Given the description of an element on the screen output the (x, y) to click on. 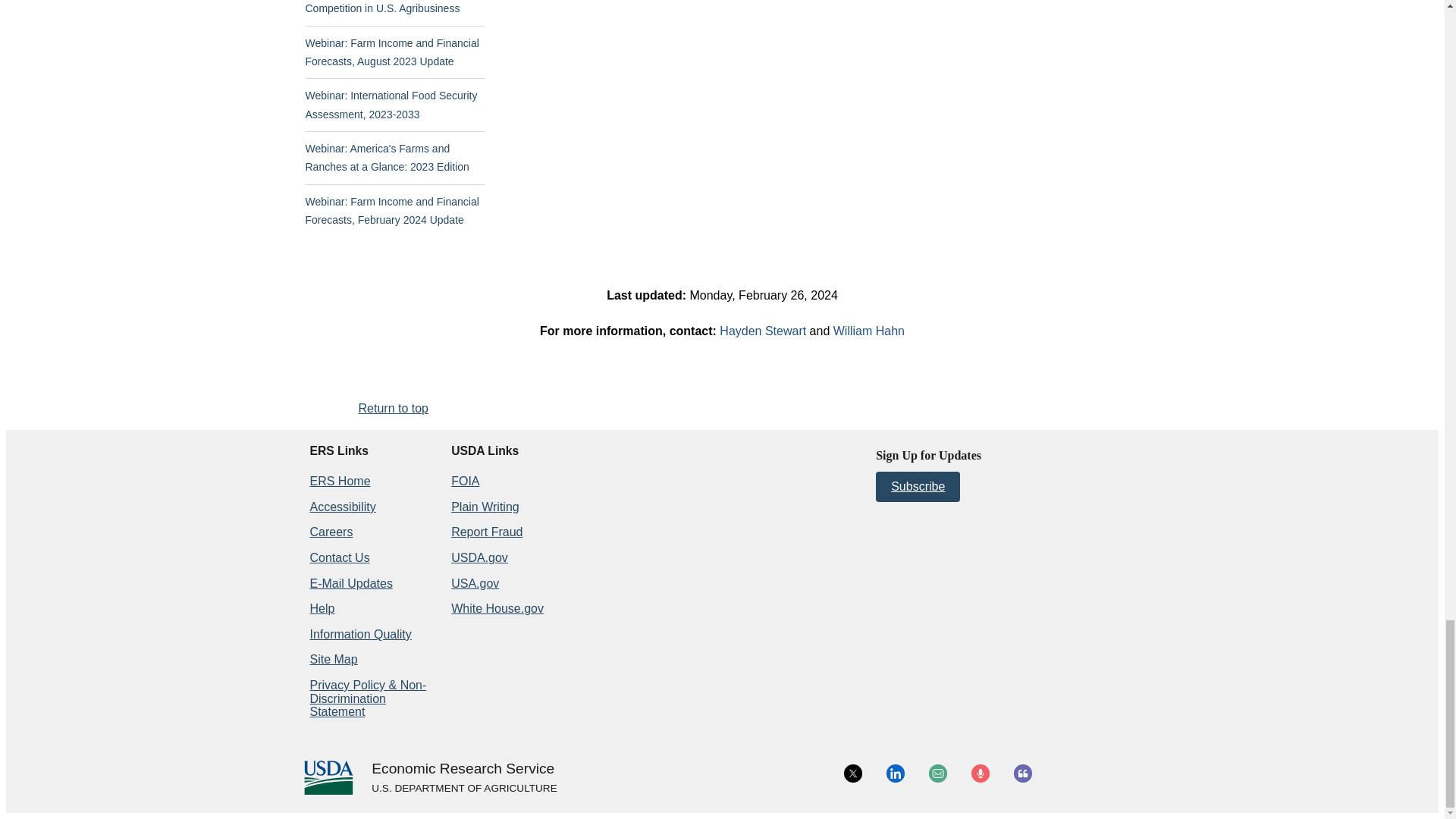
Home (462, 768)
Email Icon (937, 773)
USDA.gov (463, 788)
Multimedia Icon (979, 773)
LinkedIn icon (894, 773)
Blog Icon (1021, 773)
